Given the description of an element on the screen output the (x, y) to click on. 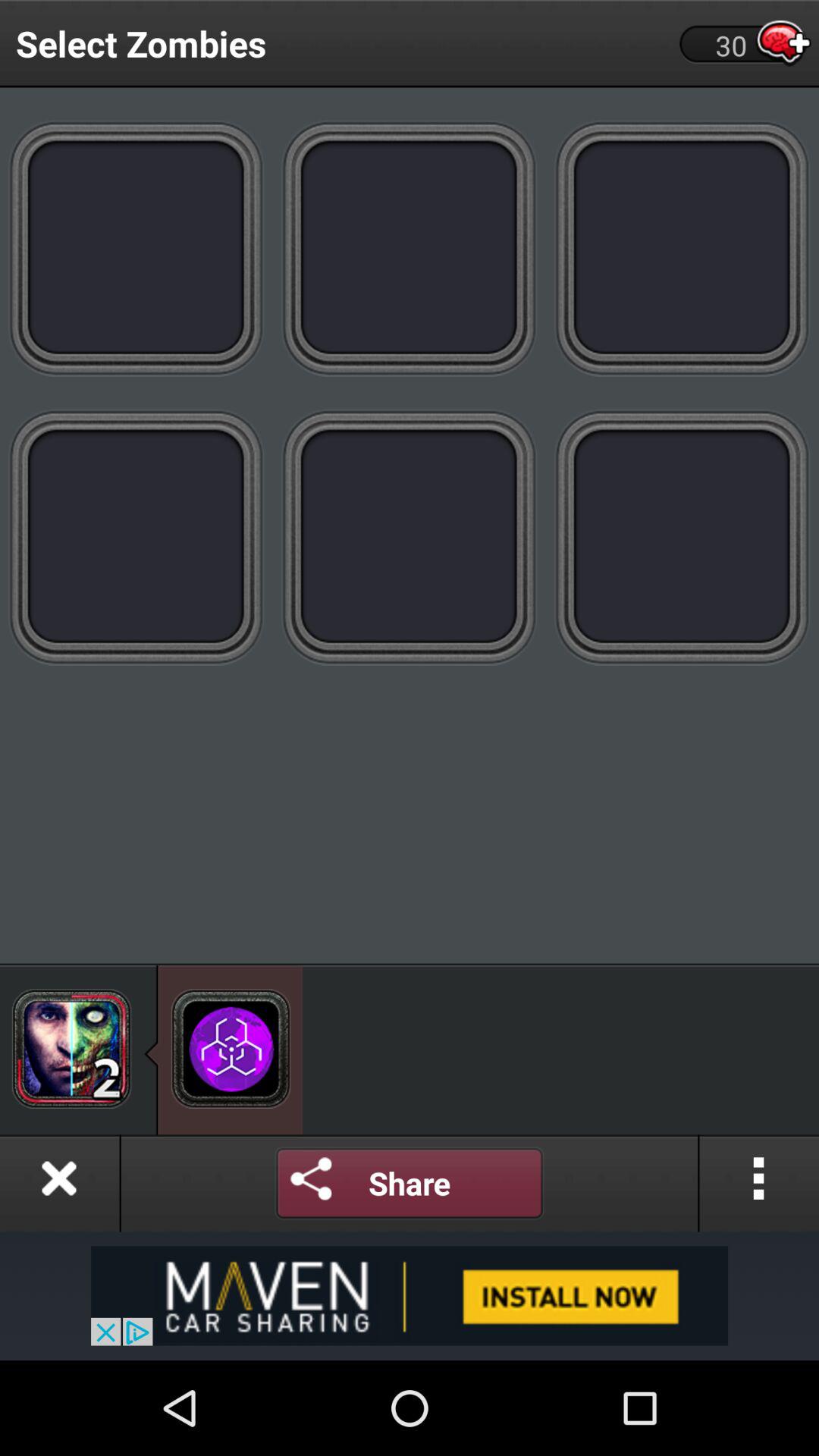
share it (409, 1183)
